Given the description of an element on the screen output the (x, y) to click on. 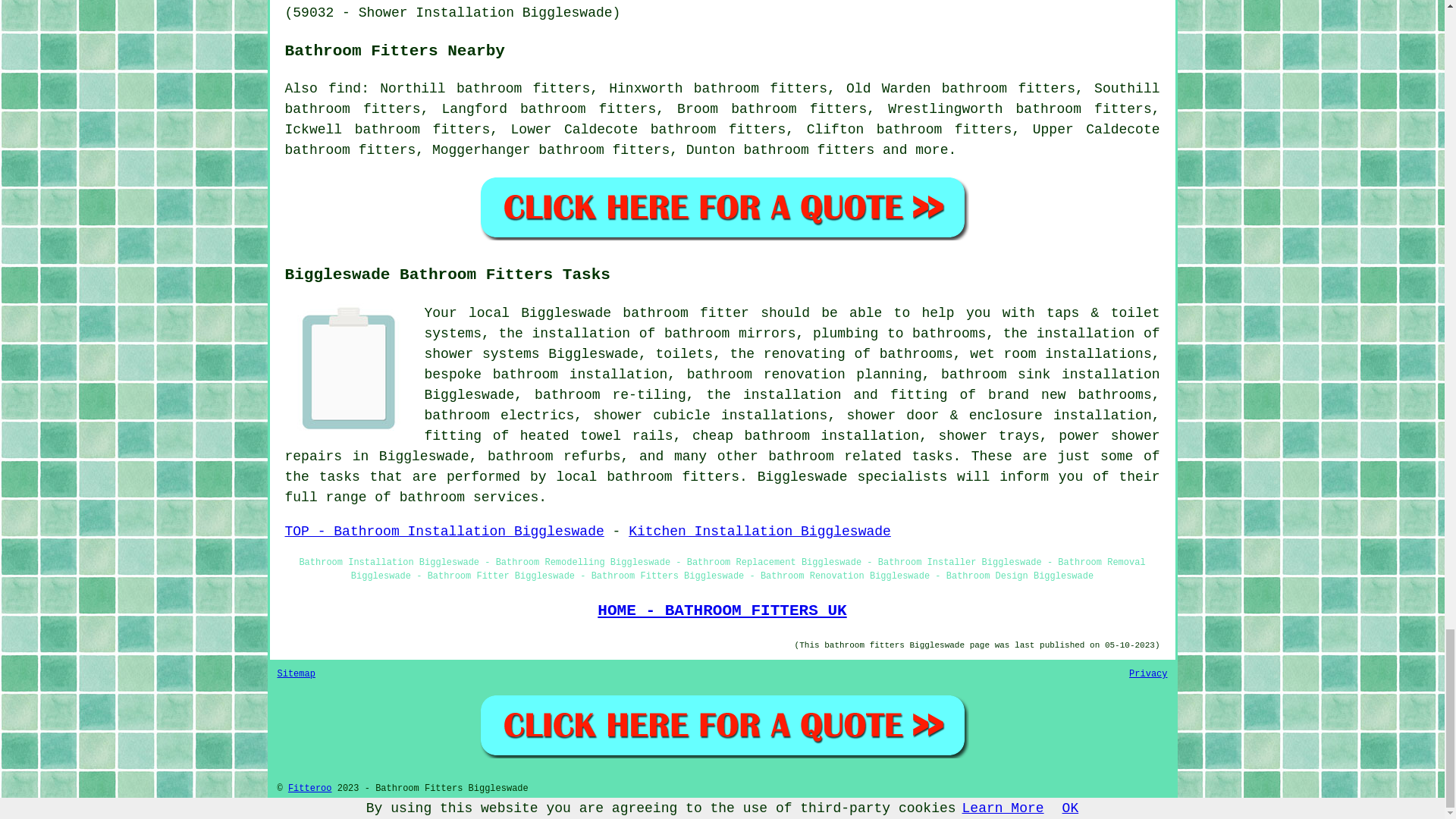
bathroom renovation planning (804, 374)
QUOTES BATHROOM FITTERS BIGGLESWADE (722, 725)
cheap bathroom installation (805, 435)
Bathroom Fitters Tasks Biggleswade (349, 367)
